Given the description of an element on the screen output the (x, y) to click on. 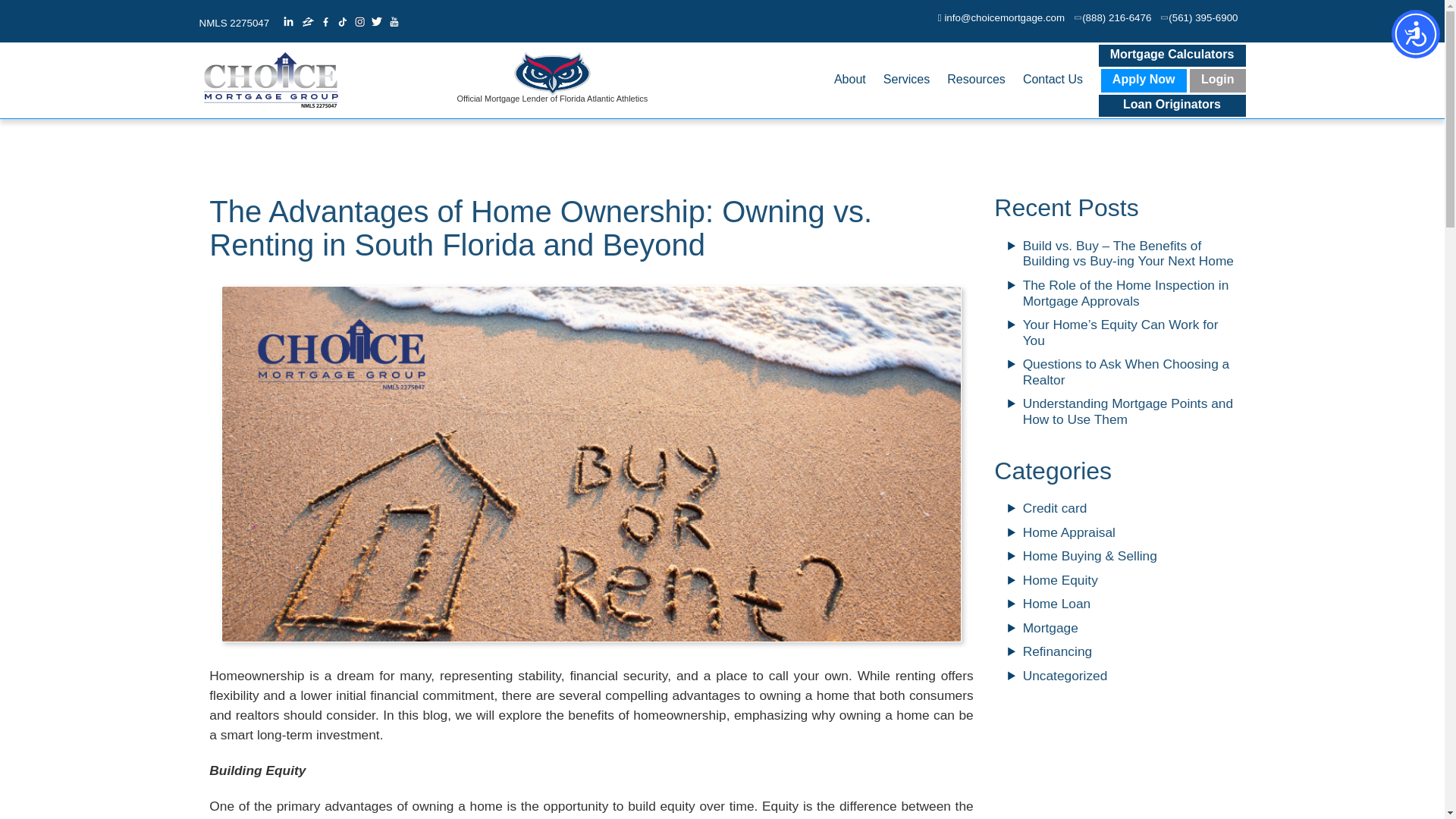
Contact Us (1053, 80)
Apply Now (1143, 80)
Login (1217, 80)
Mortgage Calculators (1170, 55)
Loan Originators (1170, 106)
Accessibility Menu (1415, 33)
Resources (975, 80)
About (849, 80)
Services (906, 80)
